Given the description of an element on the screen output the (x, y) to click on. 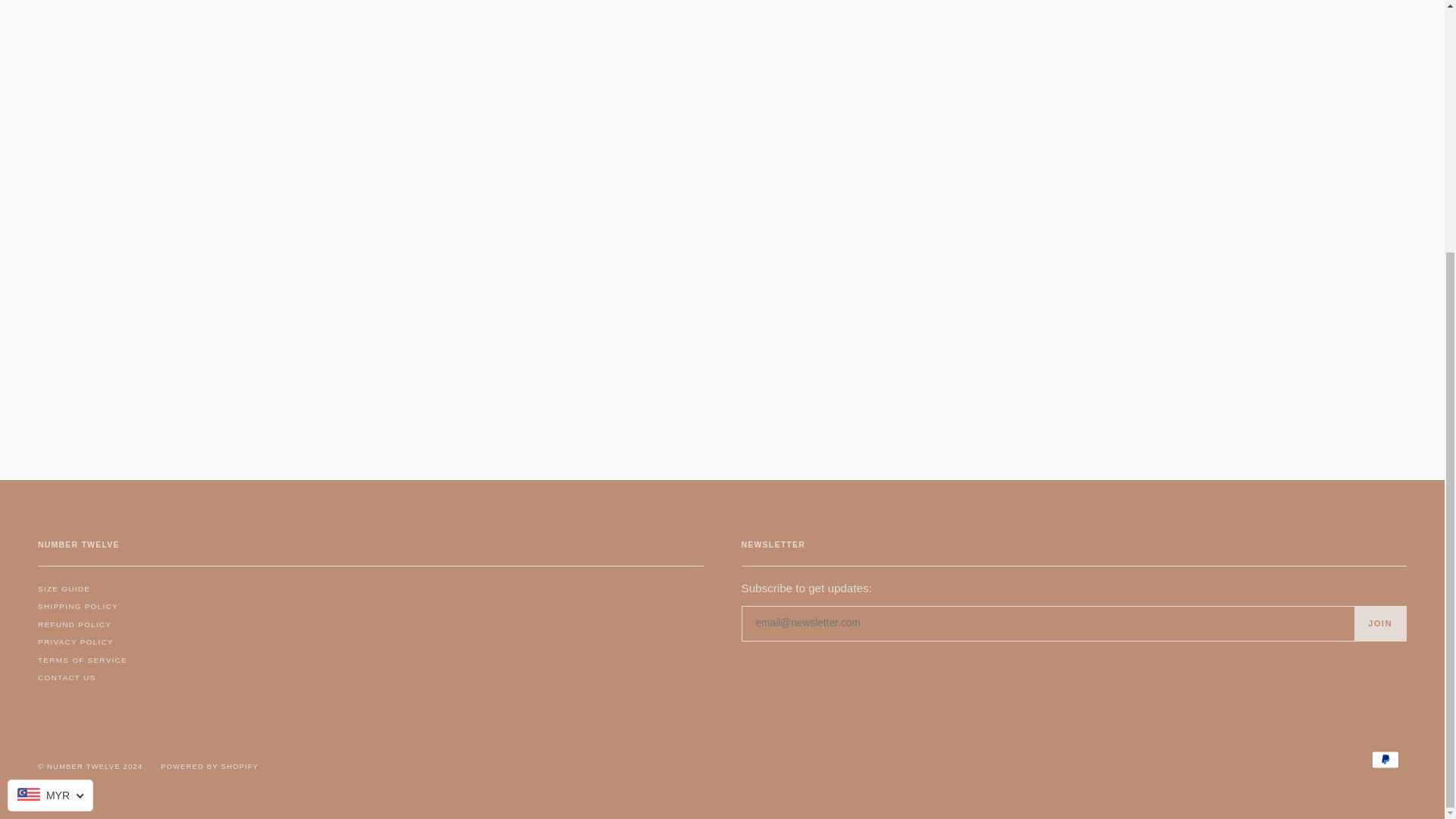
PayPal (1385, 760)
Join (1380, 623)
